Given the description of an element on the screen output the (x, y) to click on. 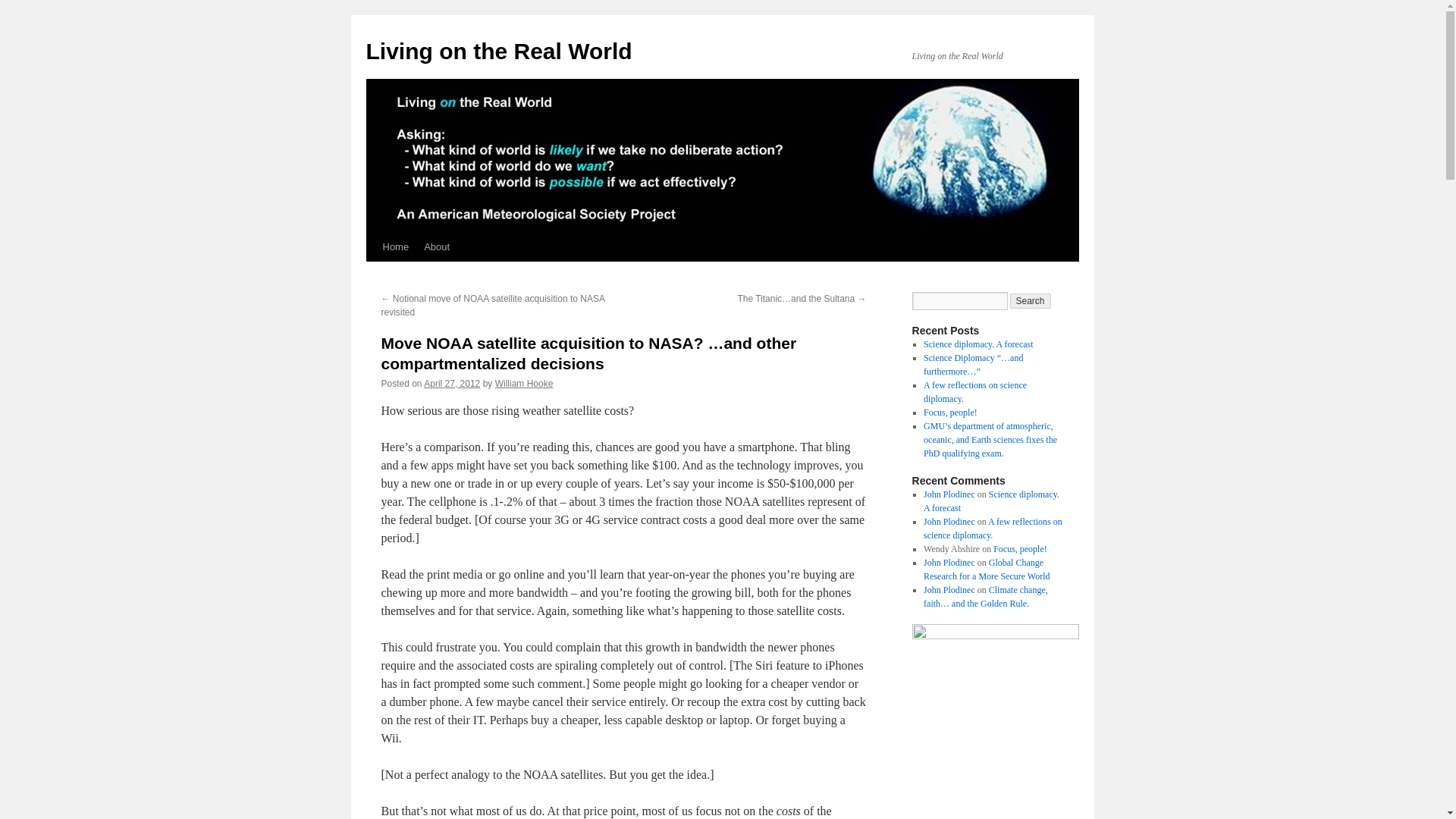
Home (395, 246)
John Plodinec (949, 493)
Living on the Real World (498, 50)
Focus, people! (949, 412)
Science diplomacy. A forecast (978, 344)
View all posts by William Hooke (524, 383)
John Plodinec (949, 562)
April 27, 2012 (451, 383)
Search (1030, 300)
A few reflections on science diplomacy. (974, 392)
